Given the description of an element on the screen output the (x, y) to click on. 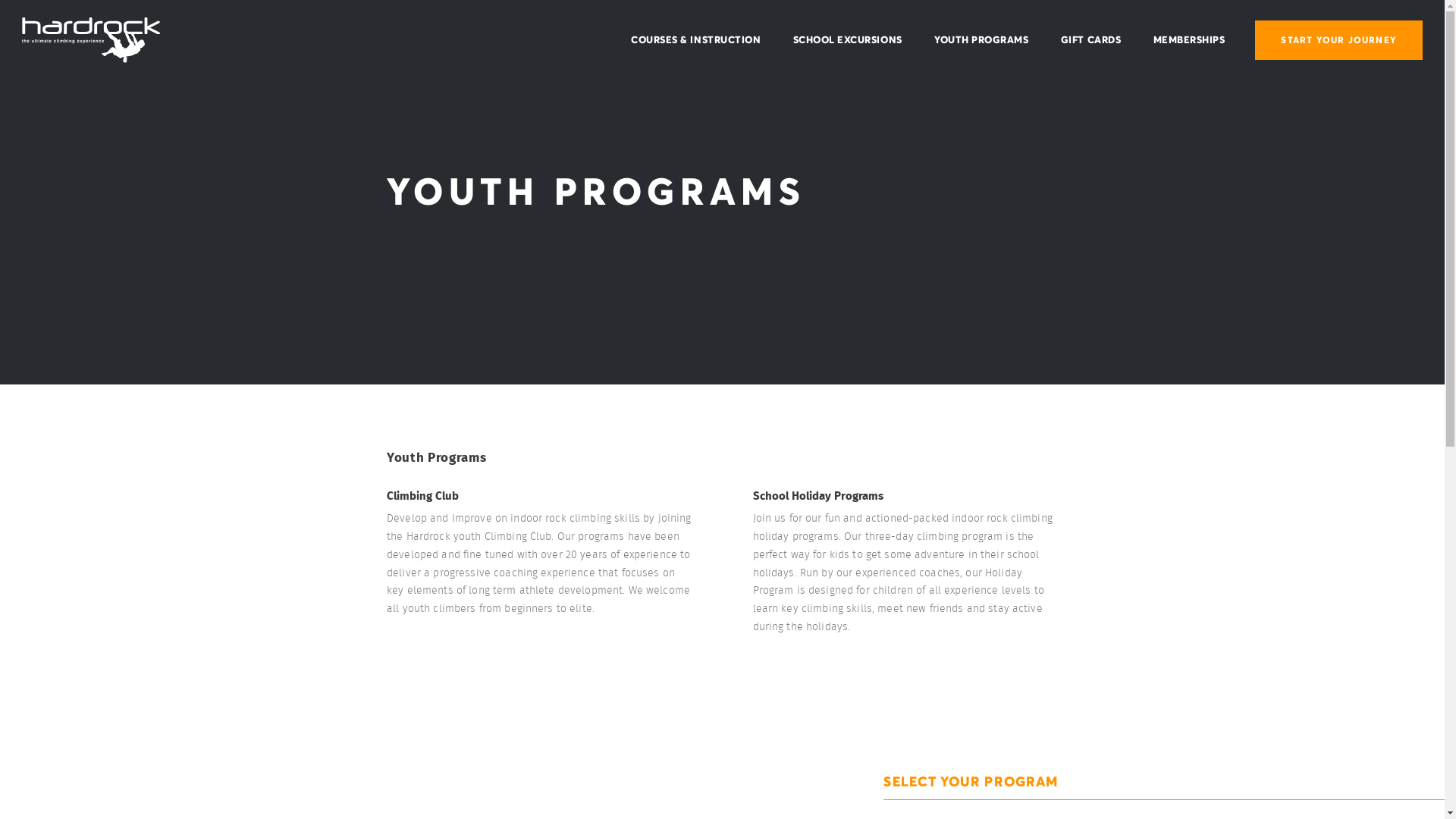
GIFT CARDS Element type: text (1090, 40)
YOUTH PROGRAMS Element type: text (981, 40)
START YOUR JOURNEY Element type: text (1338, 39)
COURSES & INSTRUCTION Element type: text (695, 40)
MEMBERSHIPS Element type: text (1189, 40)
SCHOOL EXCURSIONS Element type: text (847, 40)
